Given the description of an element on the screen output the (x, y) to click on. 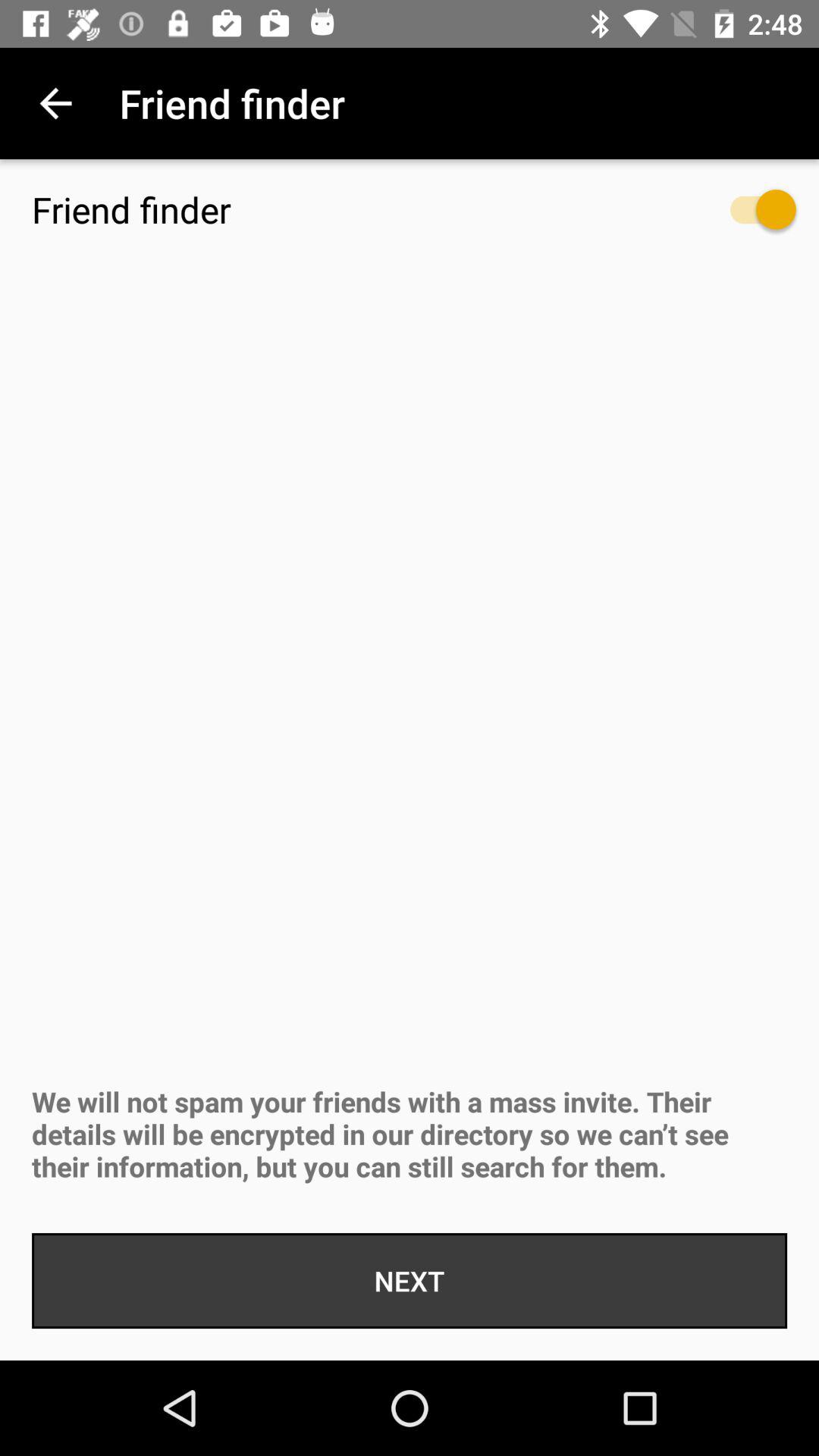
choose the item below we will not (409, 1280)
